Given the description of an element on the screen output the (x, y) to click on. 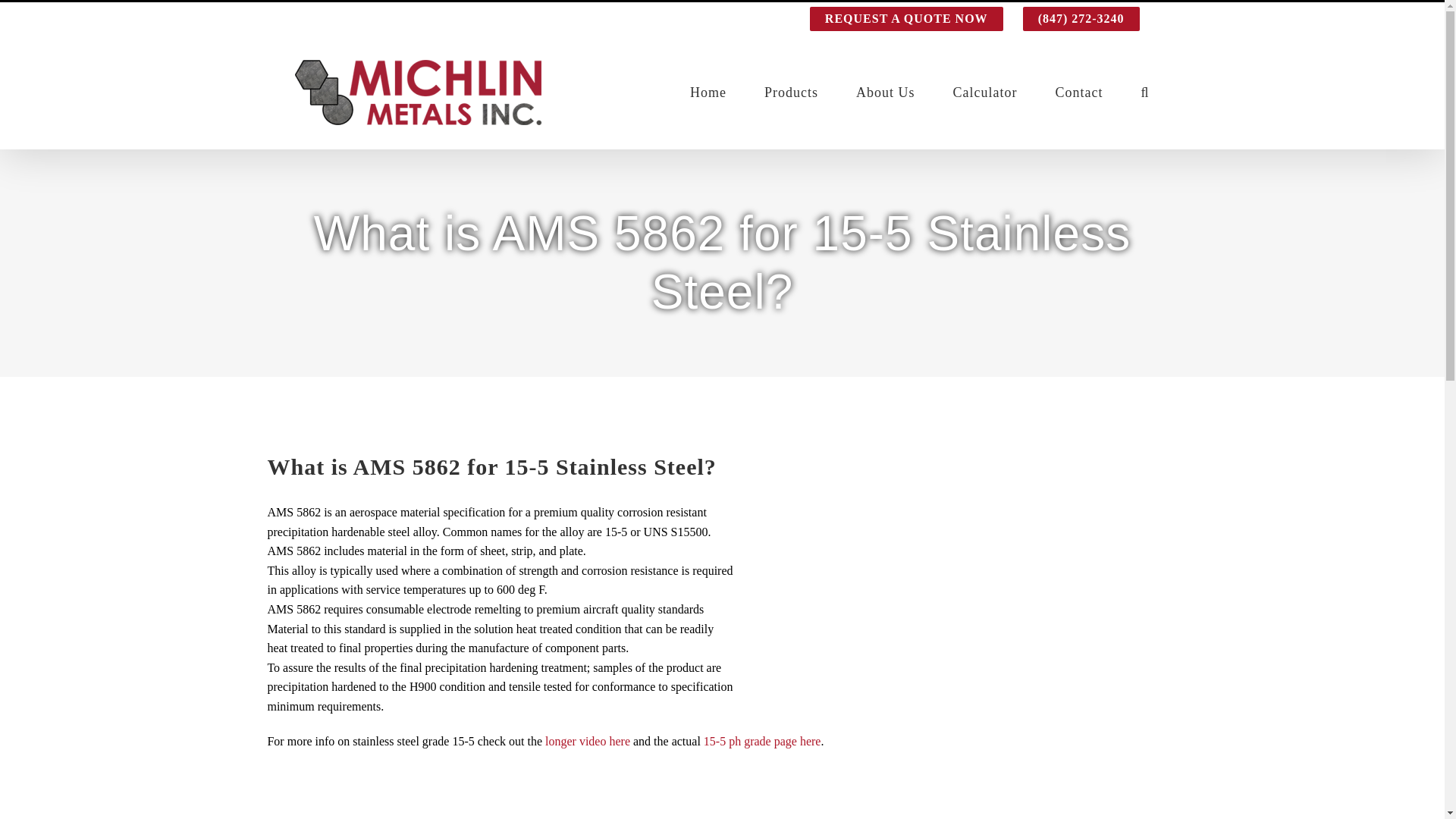
YouTube video player 1 (494, 792)
REQUEST A QUOTE NOW (906, 19)
